Given the description of an element on the screen output the (x, y) to click on. 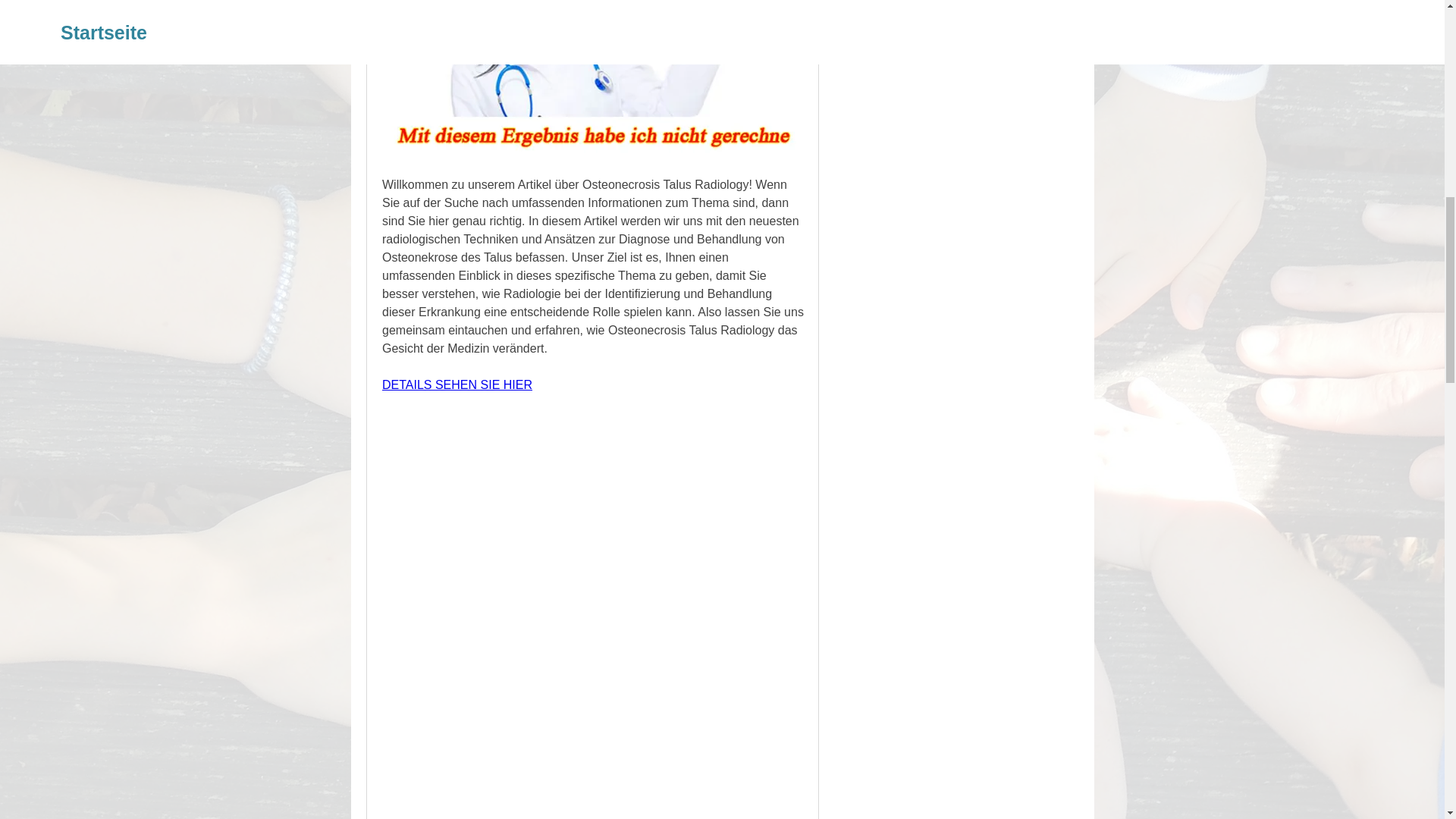
DETAILS SEHEN SIE HIER (456, 384)
